Given the description of an element on the screen output the (x, y) to click on. 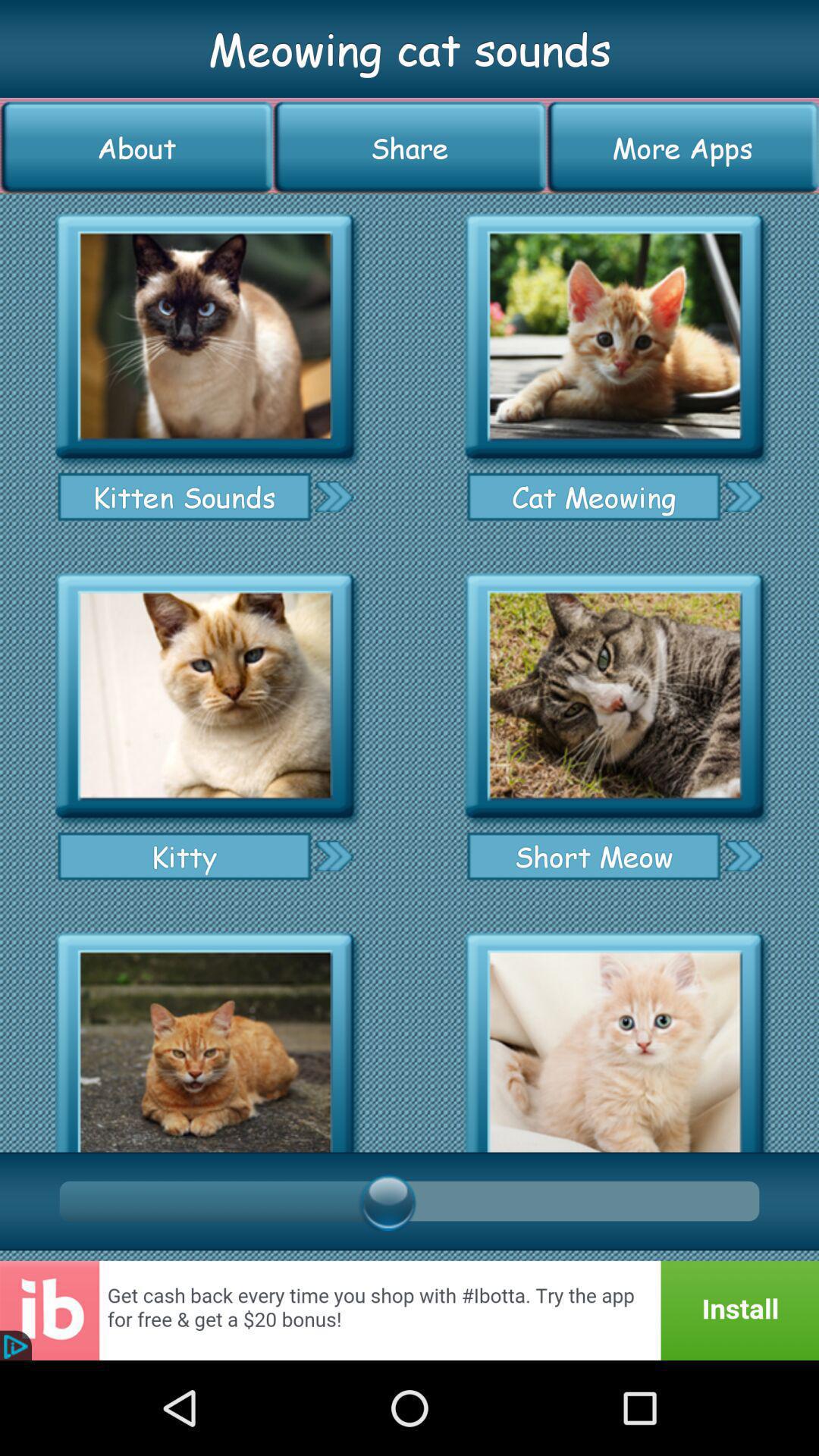
go to choose meowing cat sounds (613, 336)
